Given the description of an element on the screen output the (x, y) to click on. 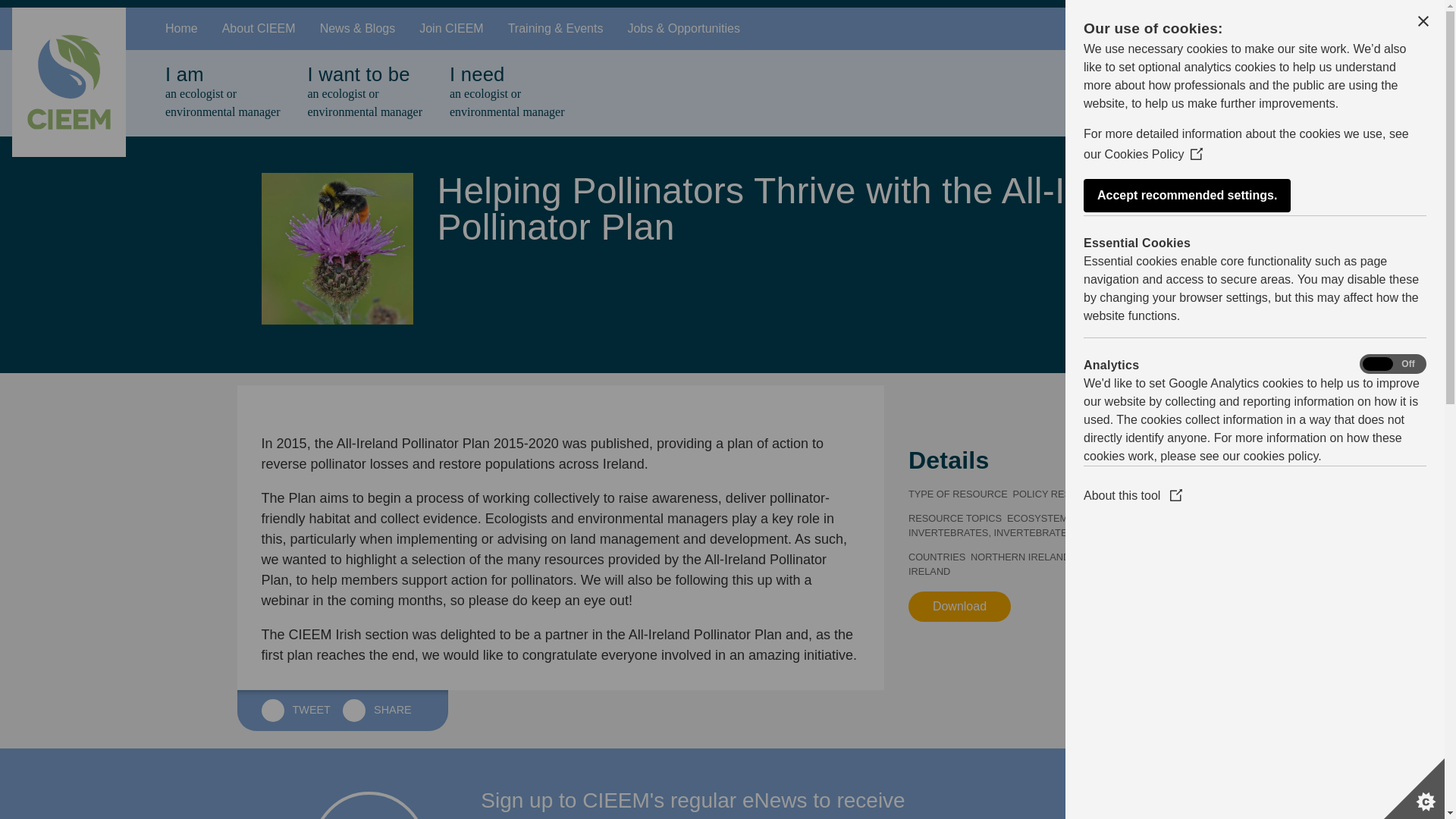
Linkedin (220, 92)
Home (1369, 28)
Facebook (180, 28)
Twitter (1411, 28)
Join CIEEM (363, 92)
My CIEEM (1327, 28)
Linkedin (451, 28)
Search (1260, 28)
